Given the description of an element on the screen output the (x, y) to click on. 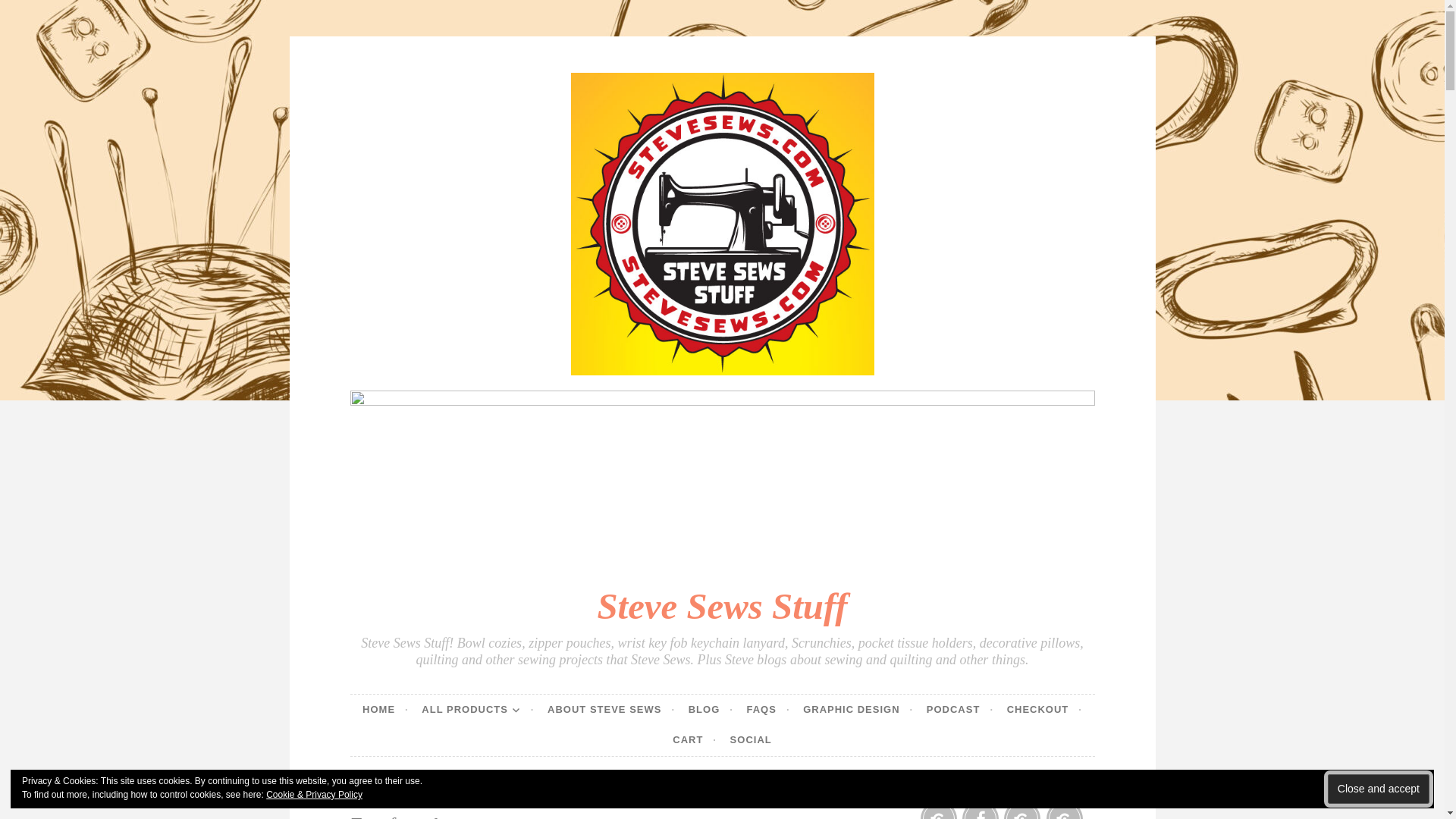
Steve Sews Stuff (721, 606)
GRAPHIC DESIGN (857, 709)
PODCAST (959, 709)
Close and accept (1378, 788)
ALL PRODUCTS (478, 709)
CART (694, 740)
ABOUT STEVE SEWS (611, 709)
BLOG (710, 709)
CHECKOUT (1044, 709)
